Given the description of an element on the screen output the (x, y) to click on. 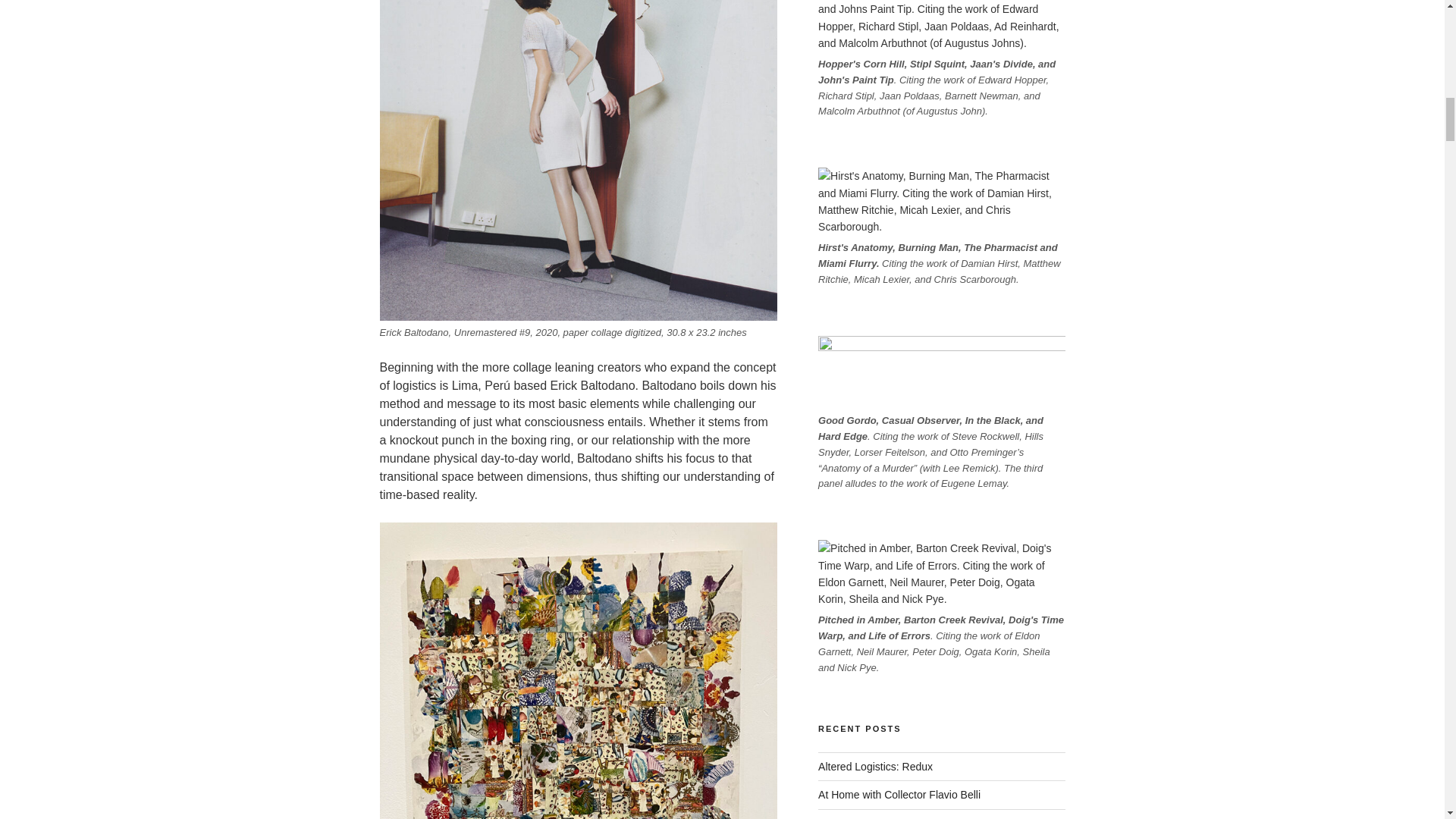
At Home with Collector Flavio Belli (898, 794)
Altered Logistics: Redux (875, 766)
